Given the description of an element on the screen output the (x, y) to click on. 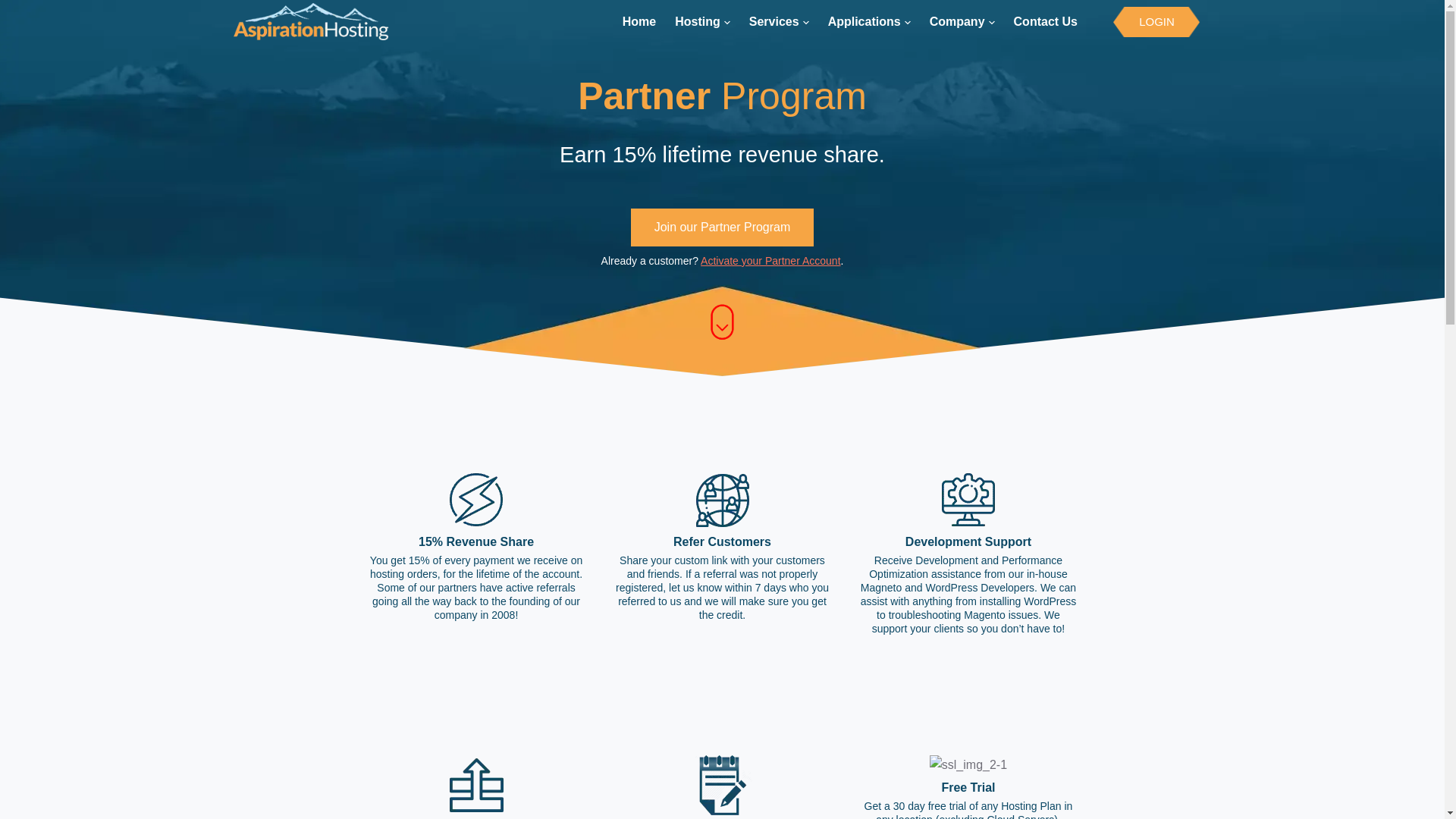
Contact Us (1045, 22)
Join our Partner Program (721, 226)
LOGIN (1156, 20)
Skip to content (15, 7)
Services (778, 22)
Home (644, 22)
Applications (869, 22)
Company (962, 22)
Hosting (702, 22)
Activate your Partner Account (770, 260)
